Given the description of an element on the screen output the (x, y) to click on. 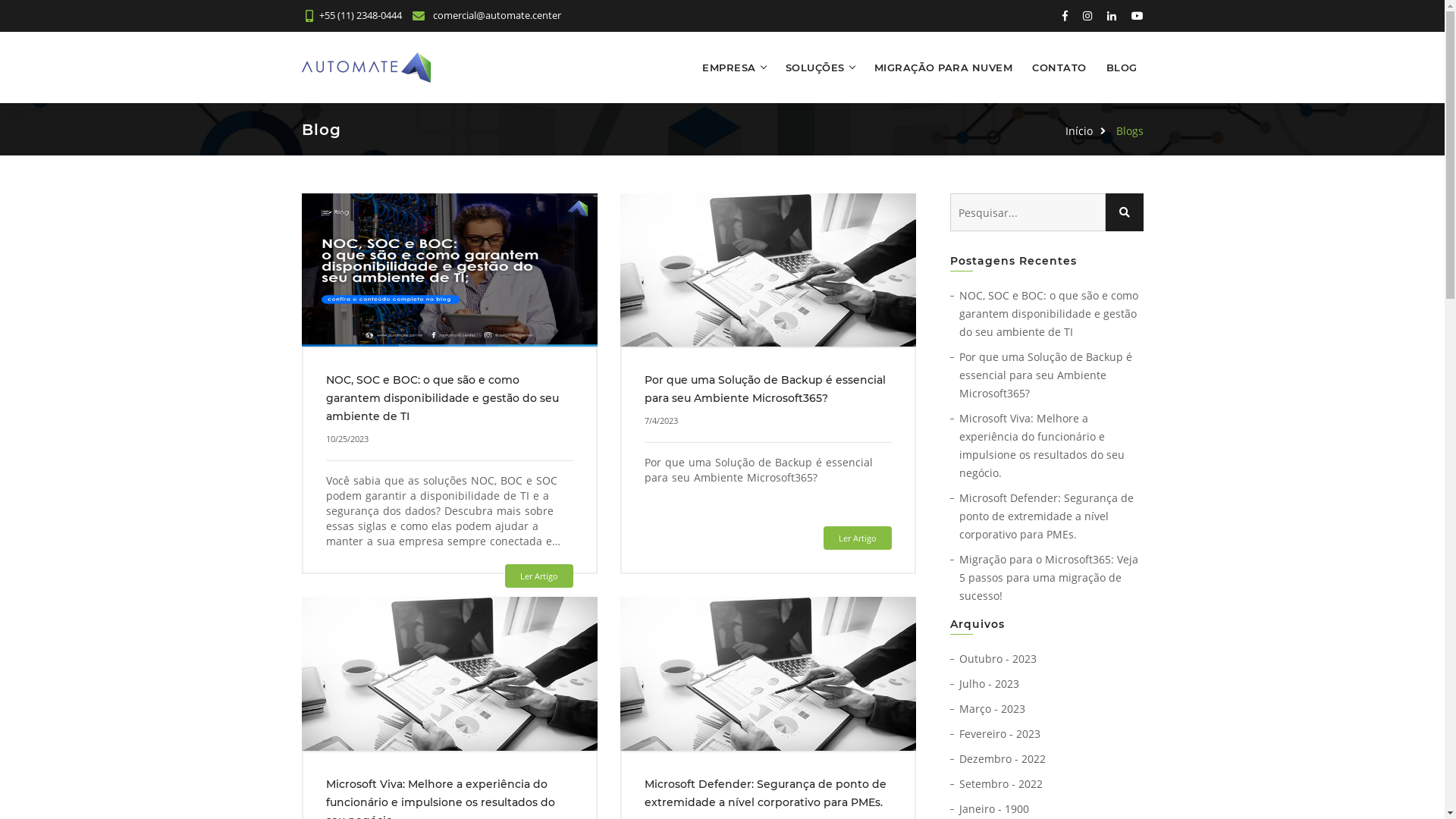
Ler Artigo Element type: text (539, 575)
Instagram Element type: hover (1086, 15)
Julho - 2023 Element type: text (988, 683)
BLOG Element type: text (1120, 67)
Outubro - 2023 Element type: text (996, 658)
CONTATO Element type: text (1059, 67)
YouTube Element type: hover (1135, 15)
Setembro - 2022 Element type: text (999, 783)
LinkedIn Element type: hover (1110, 15)
comercial@automate.center Element type: text (486, 14)
Ler Artigo Element type: text (857, 537)
Blogs Element type: text (1129, 130)
EMPRESA Element type: text (729, 67)
Janeiro - 1900 Element type: text (993, 808)
Dezembro - 2022 Element type: text (1001, 758)
Fevereiro - 2023 Element type: text (998, 733)
Facebook Element type: hover (1065, 15)
